Given the description of an element on the screen output the (x, y) to click on. 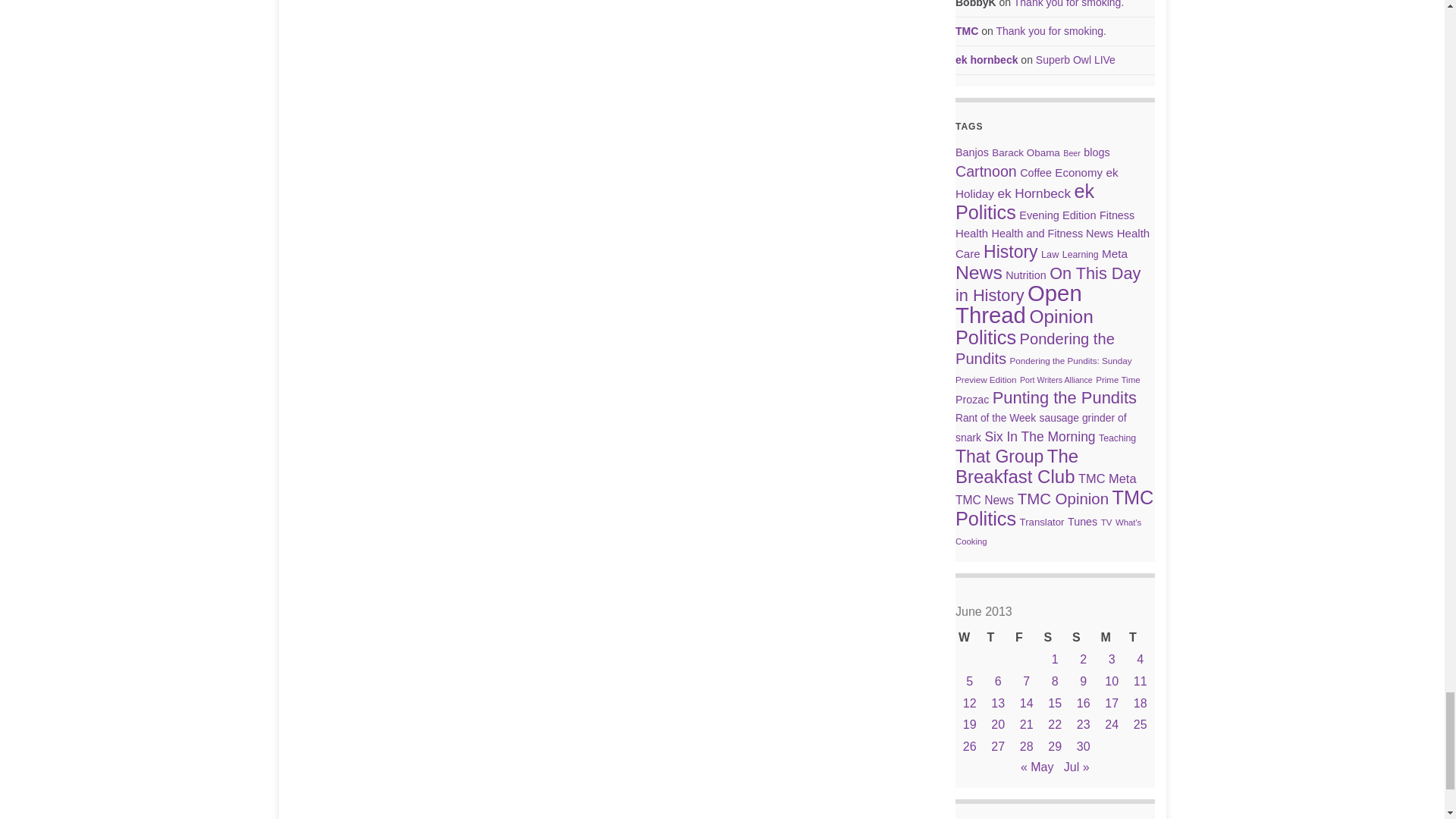
Thursday (998, 638)
Friday (1026, 638)
Tuesday (1139, 638)
Monday (1111, 638)
Wednesday (969, 638)
Sunday (1082, 638)
Saturday (1054, 638)
